Given the description of an element on the screen output the (x, y) to click on. 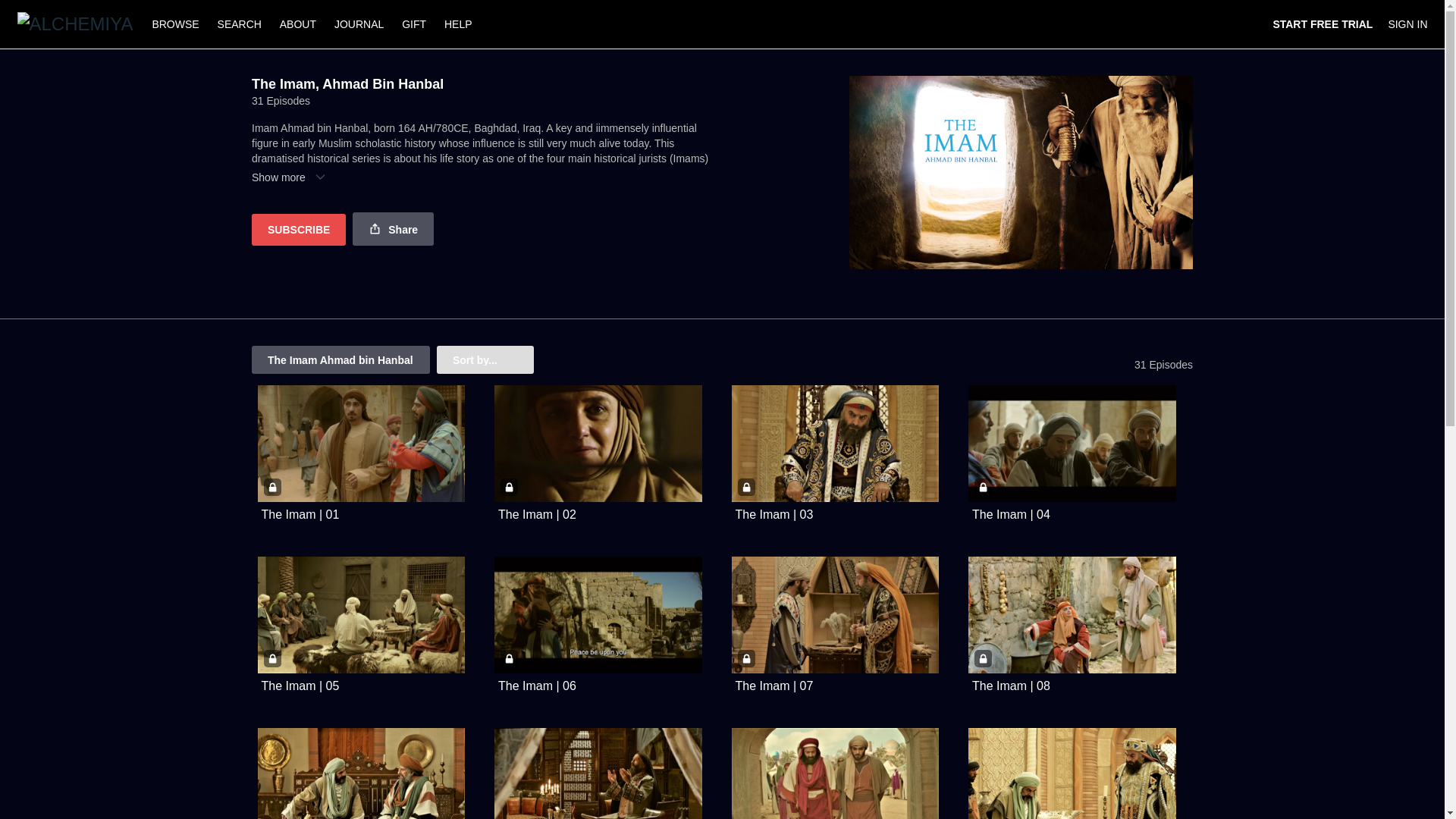
JOURNAL (358, 24)
SEARCH (240, 24)
BROWSE (176, 24)
GIFT (413, 24)
HELP (458, 24)
SIGN IN (1406, 24)
Skip to main content (48, 7)
Share (392, 228)
START FREE TRIAL (1322, 24)
SUBSCRIBE (298, 229)
ABOUT (297, 24)
